Given the description of an element on the screen output the (x, y) to click on. 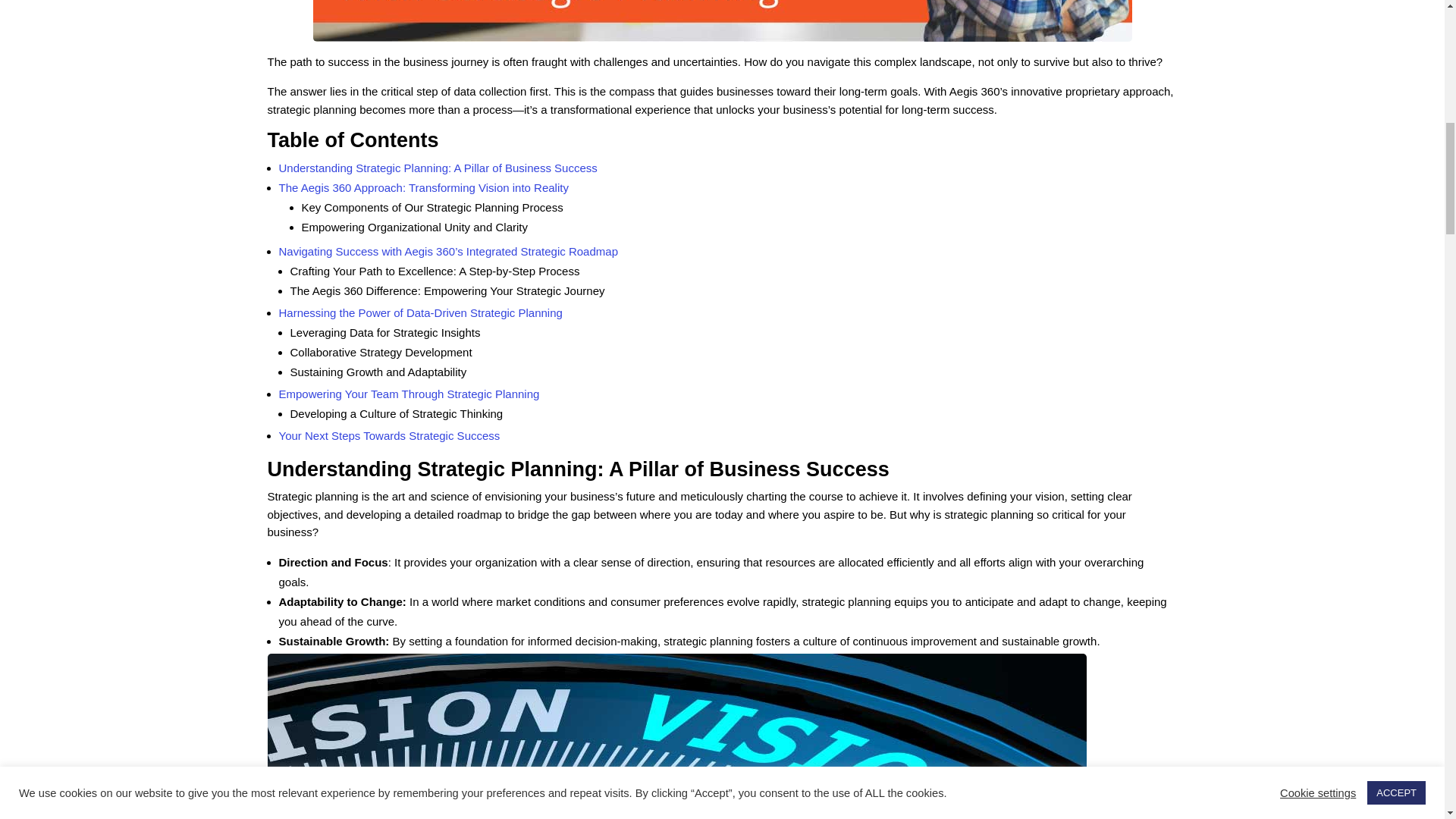
The Aegis 360 Approach: Transforming Vision into Reality (424, 187)
Harnessing the Power of Data-Driven Strategic Planning (420, 312)
Empowering Your Team Through Strategic Planning (409, 393)
Your Next Steps Towards Strategic Success (389, 435)
